Given the description of an element on the screen output the (x, y) to click on. 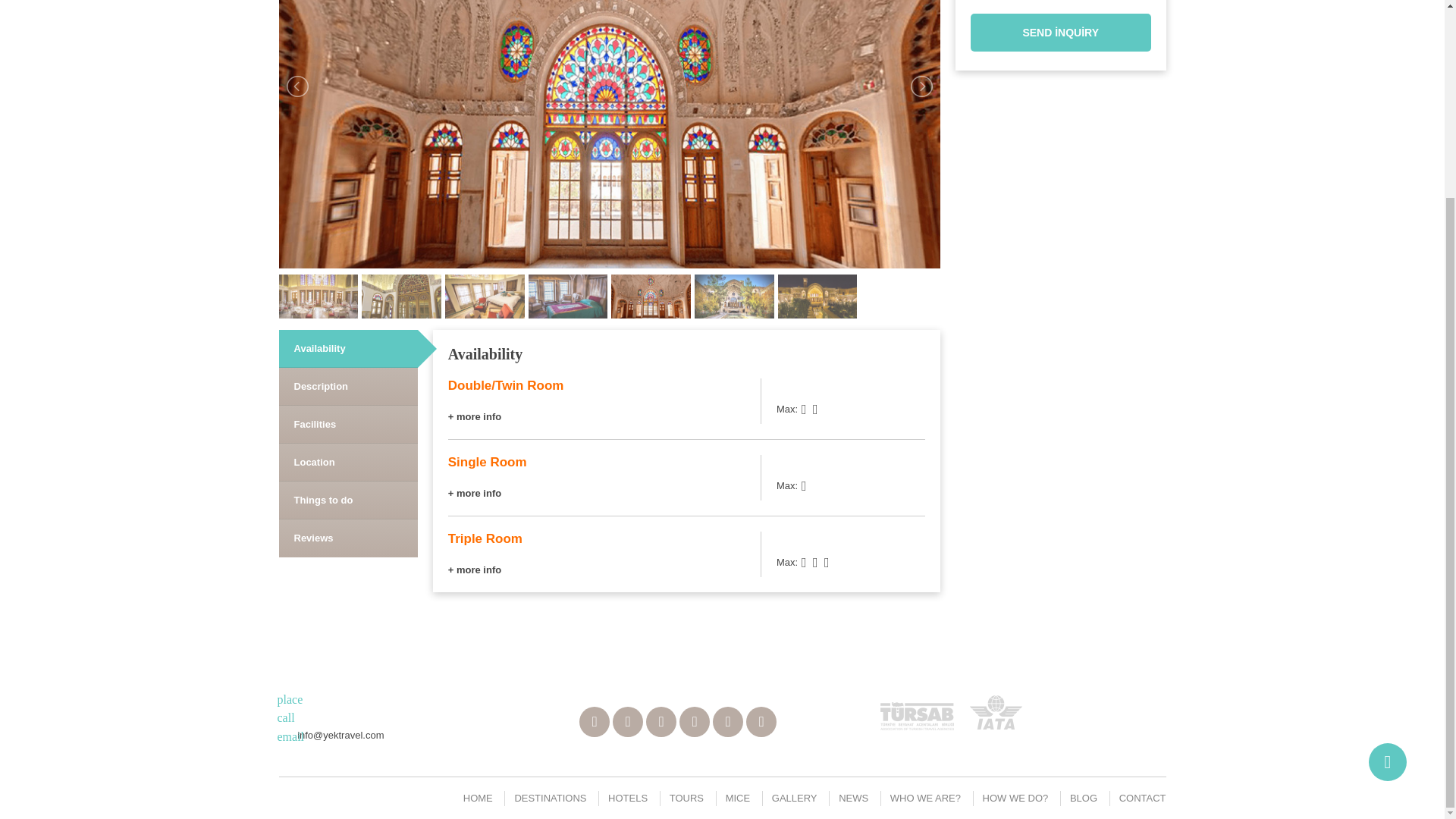
Things to do (348, 499)
Location (348, 461)
Facilities (348, 424)
Availability (348, 348)
Description (348, 385)
Reviews (348, 538)
